Given the description of an element on the screen output the (x, y) to click on. 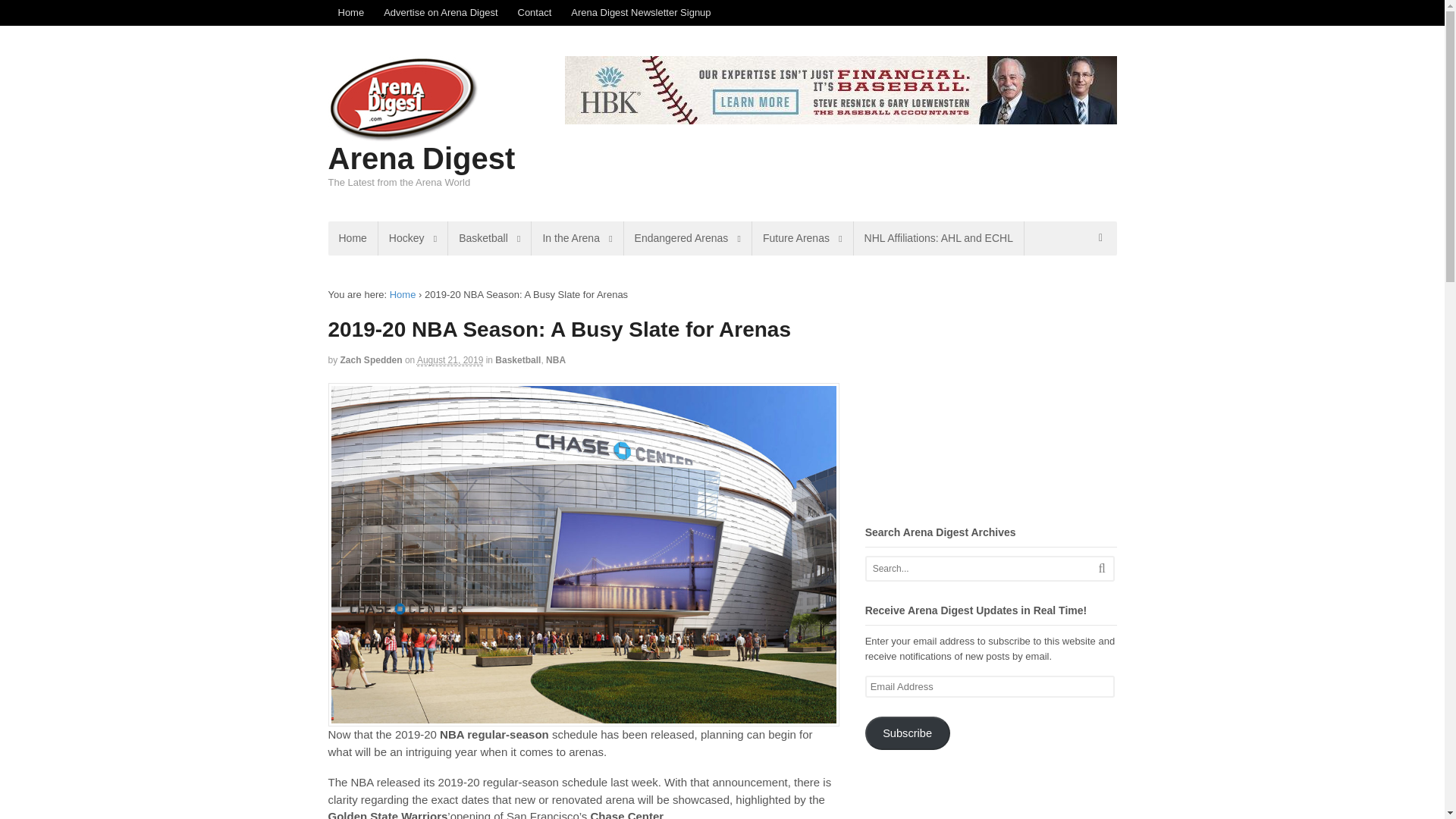
Future Arenas (802, 238)
Arena Digest Newsletter Signup (640, 12)
Arena Digest (403, 294)
The Latest from the Arena World (403, 134)
Zach Spedden (371, 359)
Advertise on Arena Digest (440, 12)
NBA (556, 359)
Contact (535, 12)
2019-08-21T14:00:13-0500 (449, 360)
View all items in NBA (556, 359)
